Given the description of an element on the screen output the (x, y) to click on. 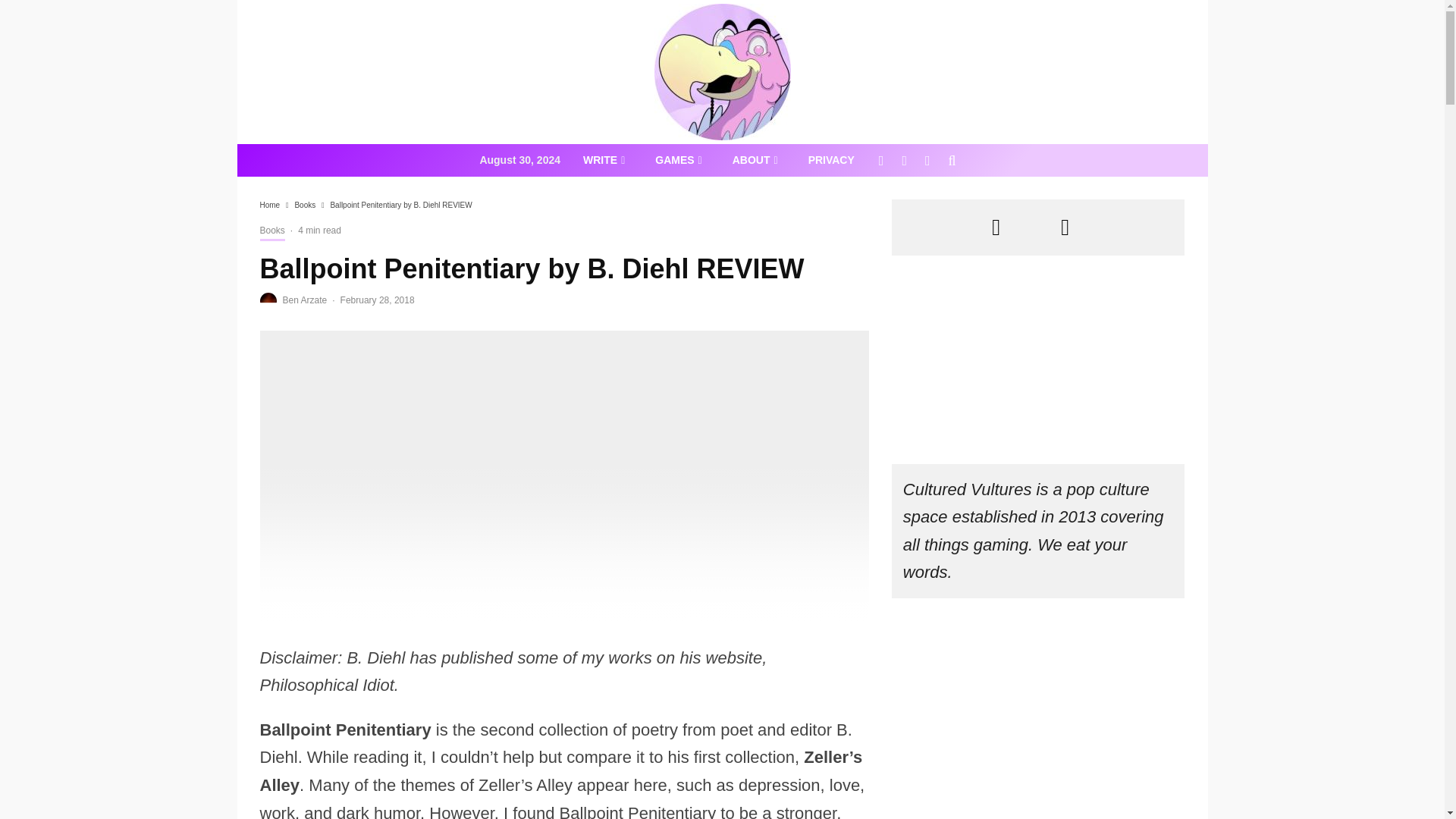
Posts by Ben Arzate (304, 299)
WRITE (603, 160)
GAMES (678, 160)
